Given the description of an element on the screen output the (x, y) to click on. 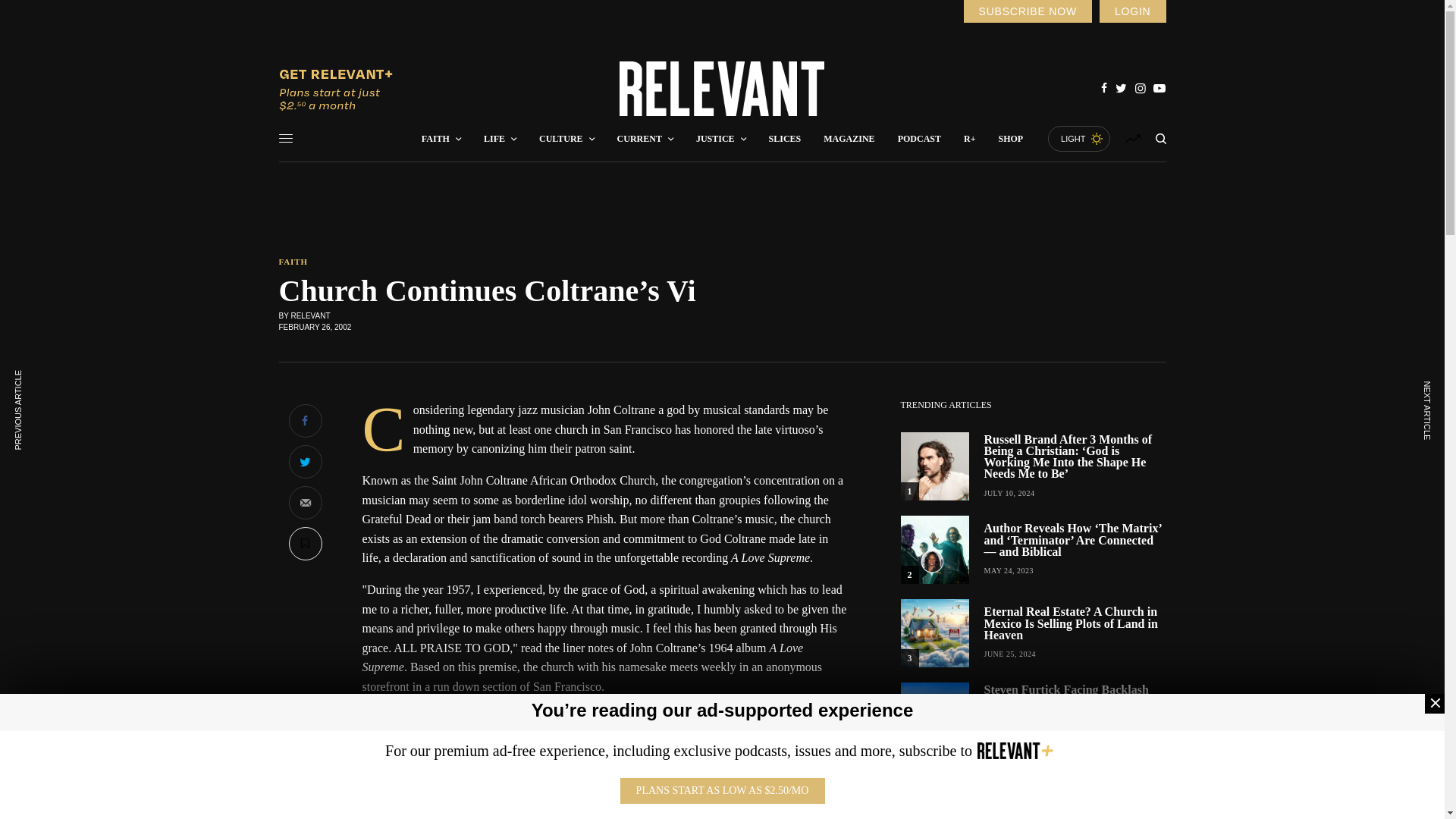
LOGIN (1132, 11)
RELEVANT (722, 88)
SUBSCRIBE NOW (1026, 11)
